Given the description of an element on the screen output the (x, y) to click on. 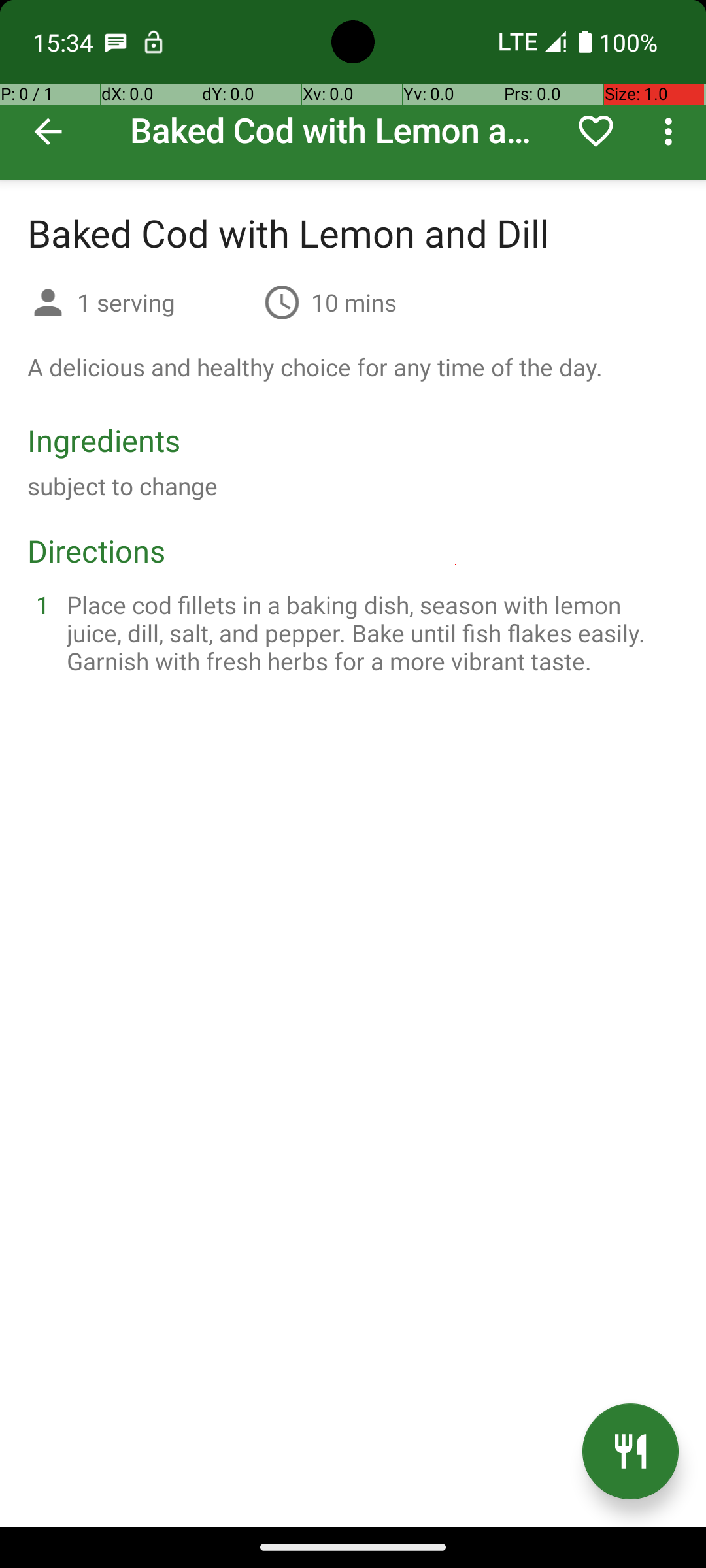
Place cod fillets in a baking dish, season with lemon juice, dill, salt, and pepper. Bake until fish flakes easily. Garnish with fresh herbs for a more vibrant taste. Element type: android.widget.TextView (368, 632)
